Given the description of an element on the screen output the (x, y) to click on. 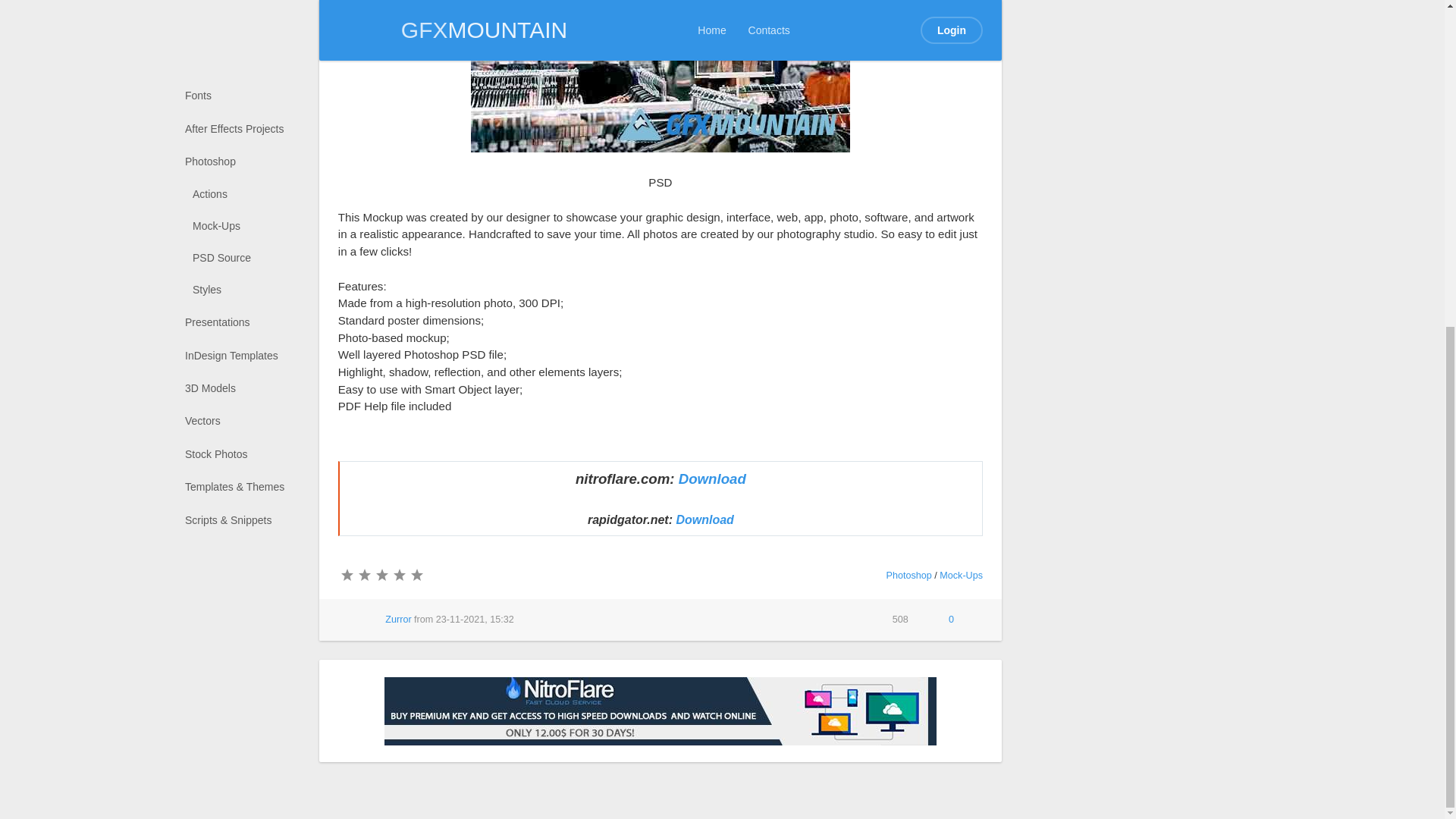
Good (398, 574)
Photoshop (908, 575)
Views: 508 (890, 619)
Fair (381, 574)
3 (381, 574)
Download (711, 478)
Download (704, 519)
4 (398, 574)
2 (363, 574)
Comments: 0 (941, 619)
Poor (363, 574)
Mock-Ups (960, 575)
1 (346, 574)
Useless (346, 574)
Excellent (416, 574)
